Given the description of an element on the screen output the (x, y) to click on. 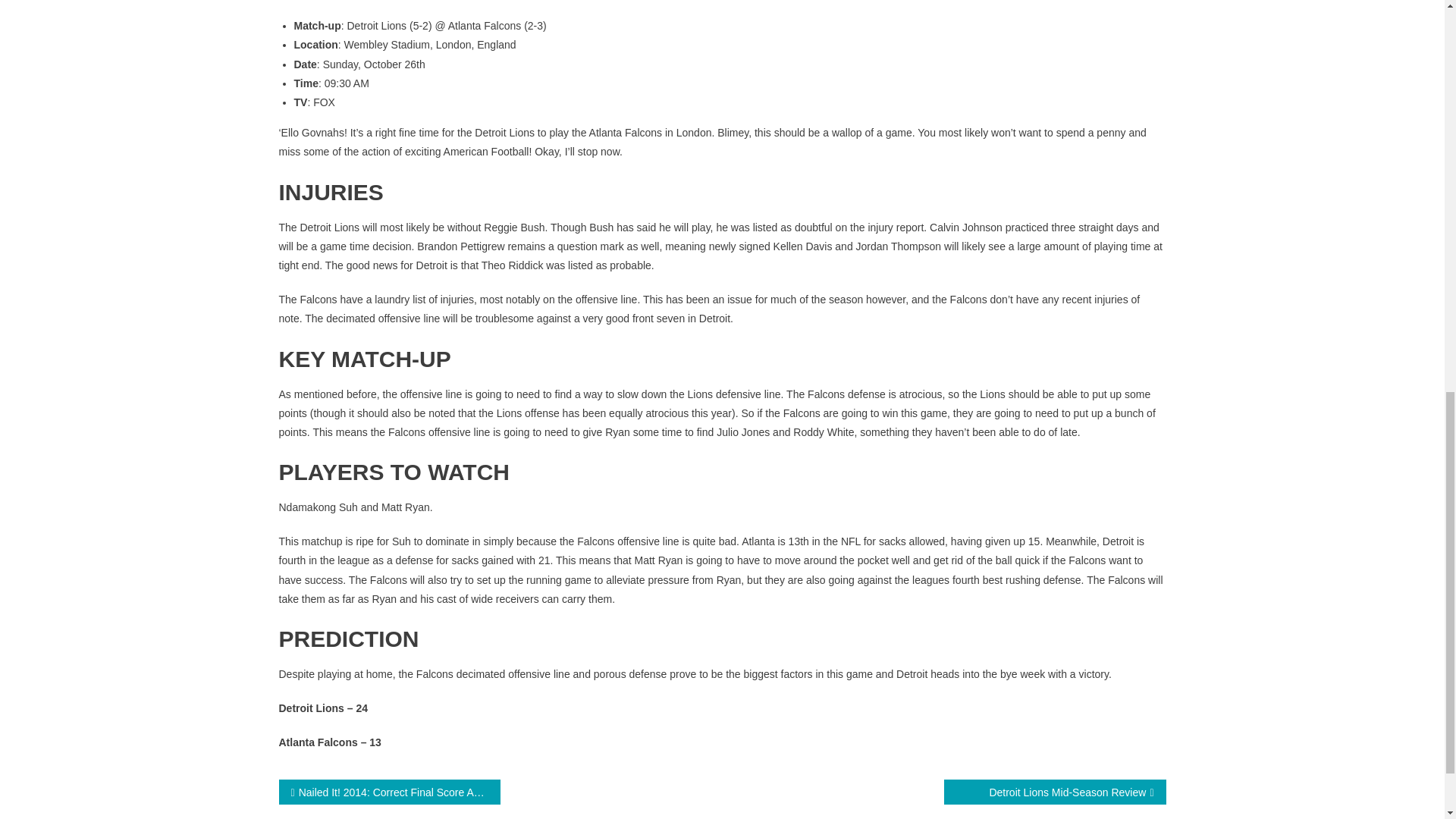
Detroit Lions Mid-Season Review (1054, 791)
Nailed It! 2014: Correct Final Score Again! (389, 791)
